Given the description of an element on the screen output the (x, y) to click on. 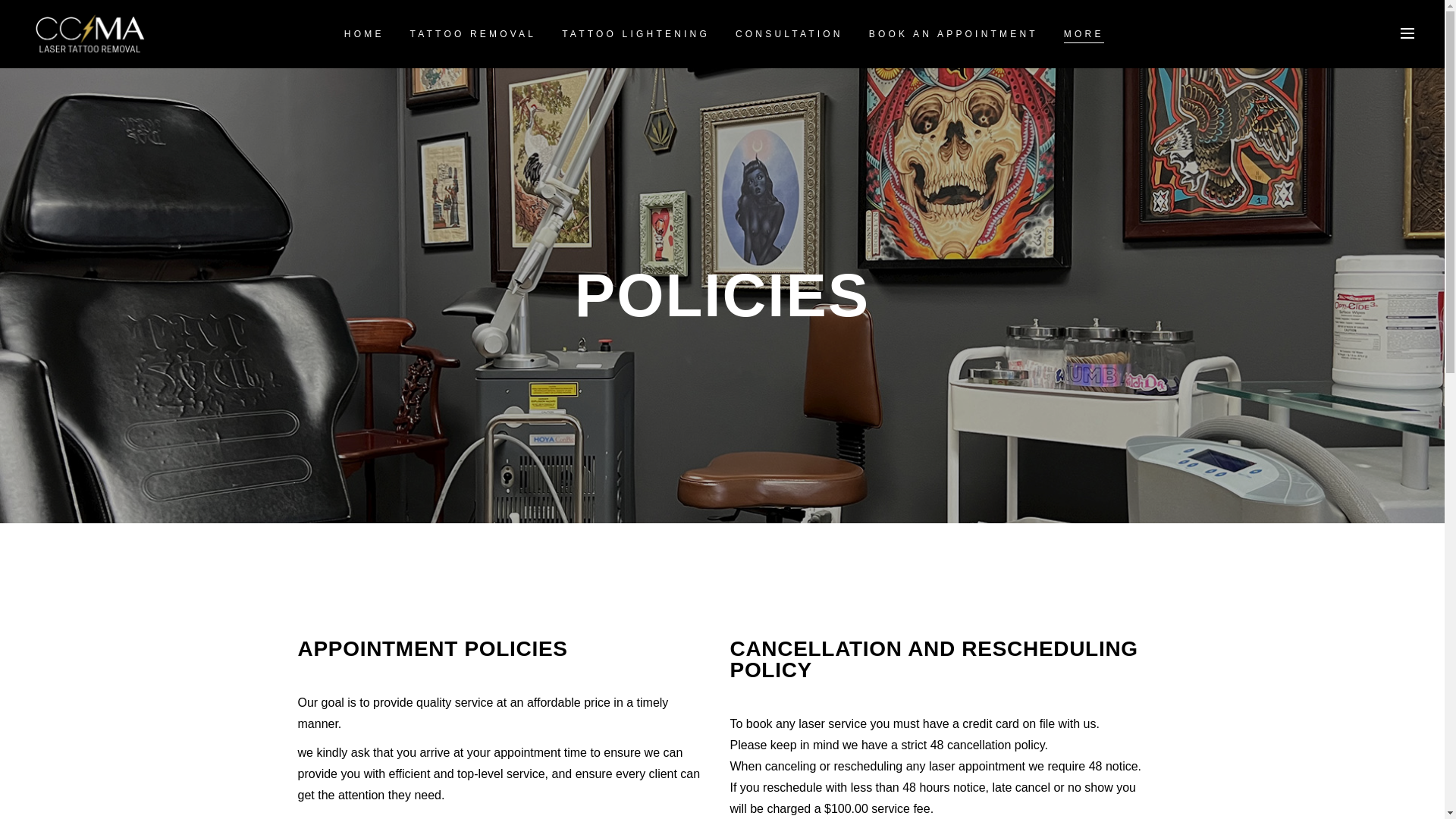
HOME (364, 33)
TATTOO LIGHTENING (635, 33)
MORE (1083, 33)
TATTOO REMOVAL (473, 33)
BOOK AN APPOINTMENT (953, 33)
CONSULTATION (789, 33)
